Given the description of an element on the screen output the (x, y) to click on. 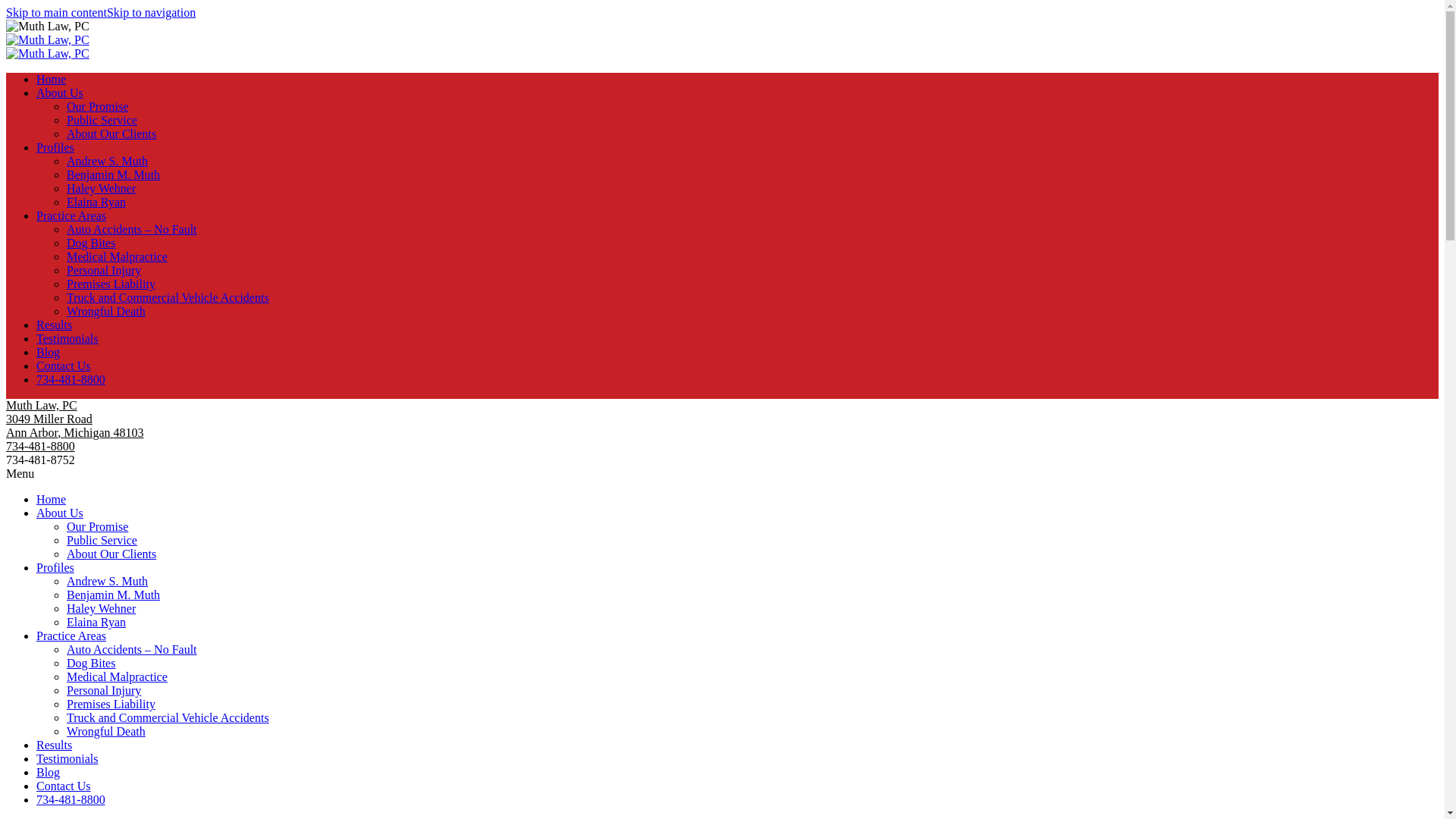
Elaina Ryan (95, 201)
Benjamin M. Muth (113, 594)
734-481-8800 (40, 445)
Home (50, 78)
Skip to main content (55, 11)
Andrew S. Muth (107, 160)
Our Promise (97, 526)
Home (50, 499)
734-481-8800 (70, 379)
Benjamin M. Muth (113, 174)
About Our Clients (110, 553)
Blog (47, 351)
Haley Wehner (100, 187)
Profiles (55, 146)
Haley Wehner (100, 608)
